Given the description of an element on the screen output the (x, y) to click on. 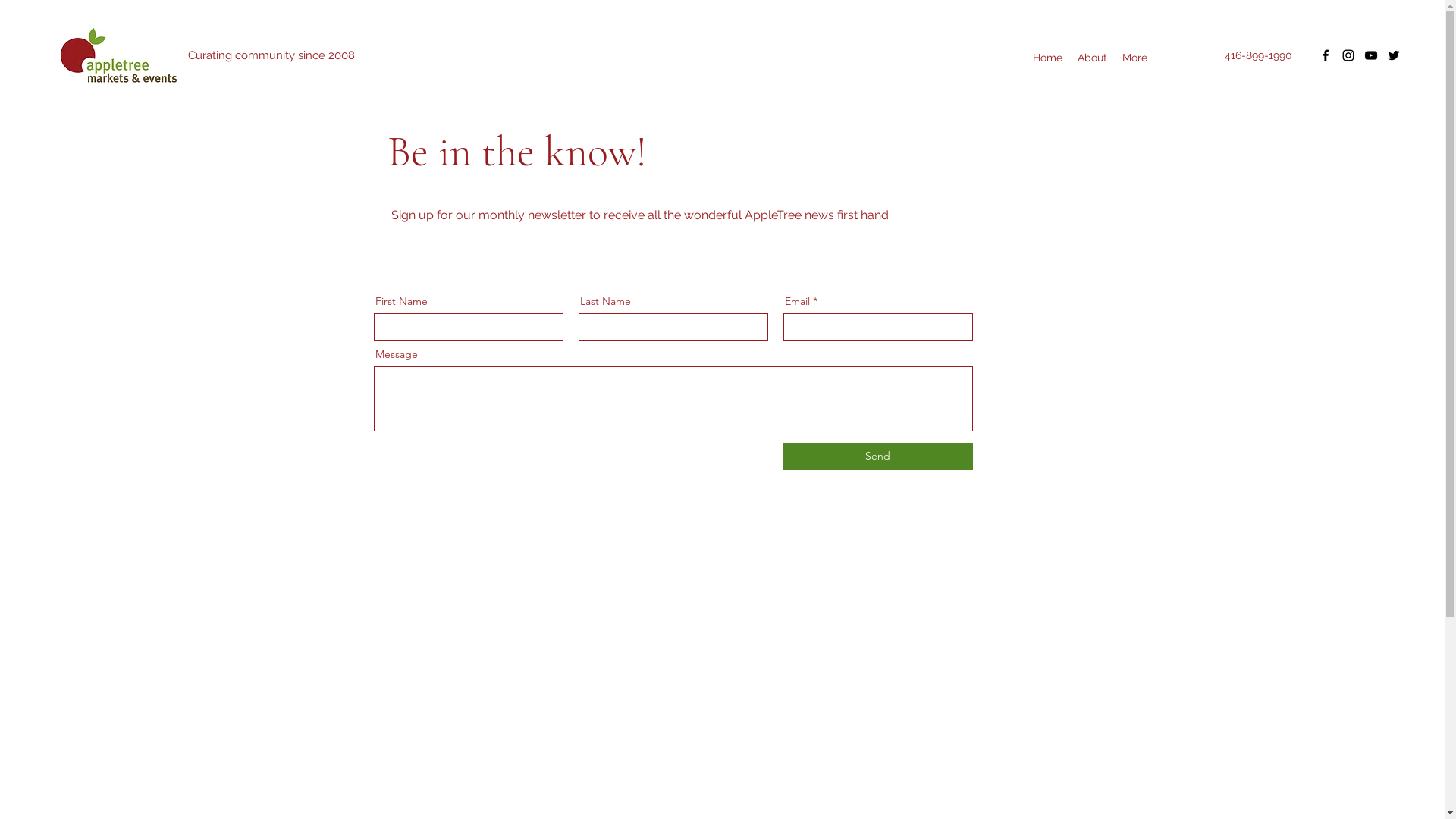
Home Element type: text (1047, 57)
About Element type: text (1092, 57)
Send Element type: text (877, 456)
